Given the description of an element on the screen output the (x, y) to click on. 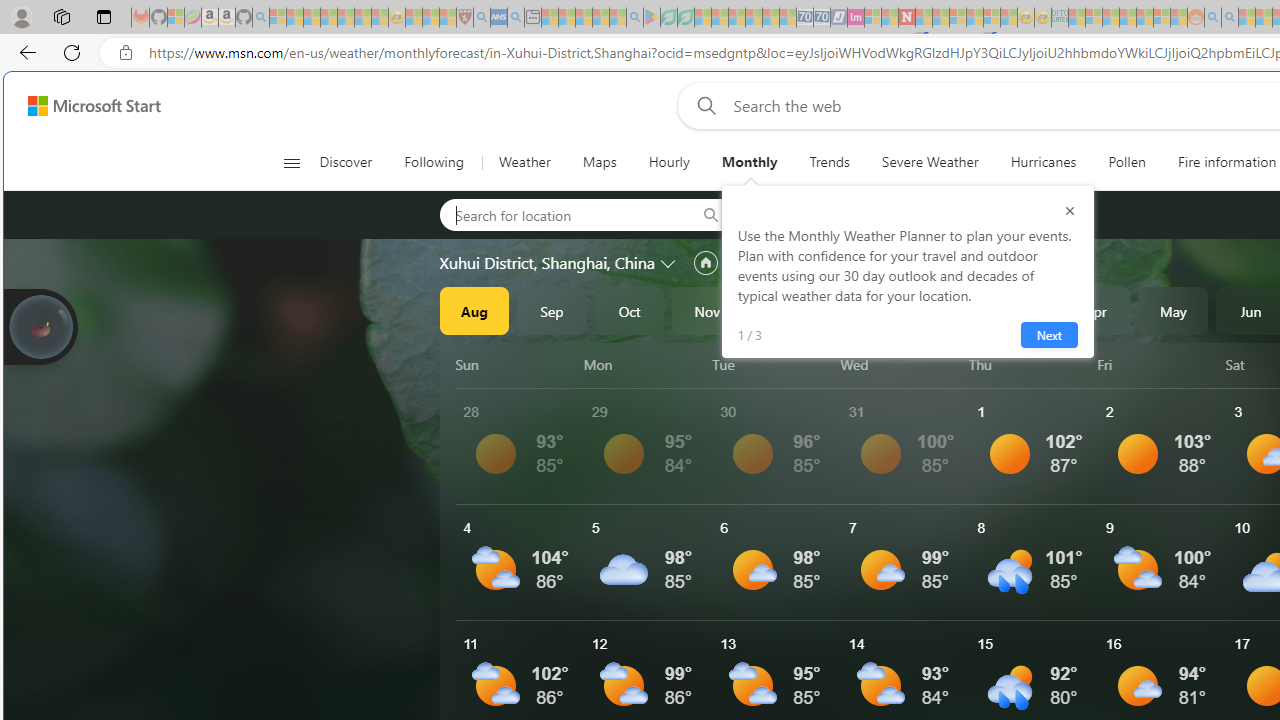
Tue (772, 363)
DITOGAMES AG Imprint - Sleeping (1059, 17)
2025Jan (862, 310)
Dec (785, 310)
14 Common Myths Debunked By Scientific Facts - Sleeping (940, 17)
Dec (785, 310)
Mon (644, 363)
